Given the description of an element on the screen output the (x, y) to click on. 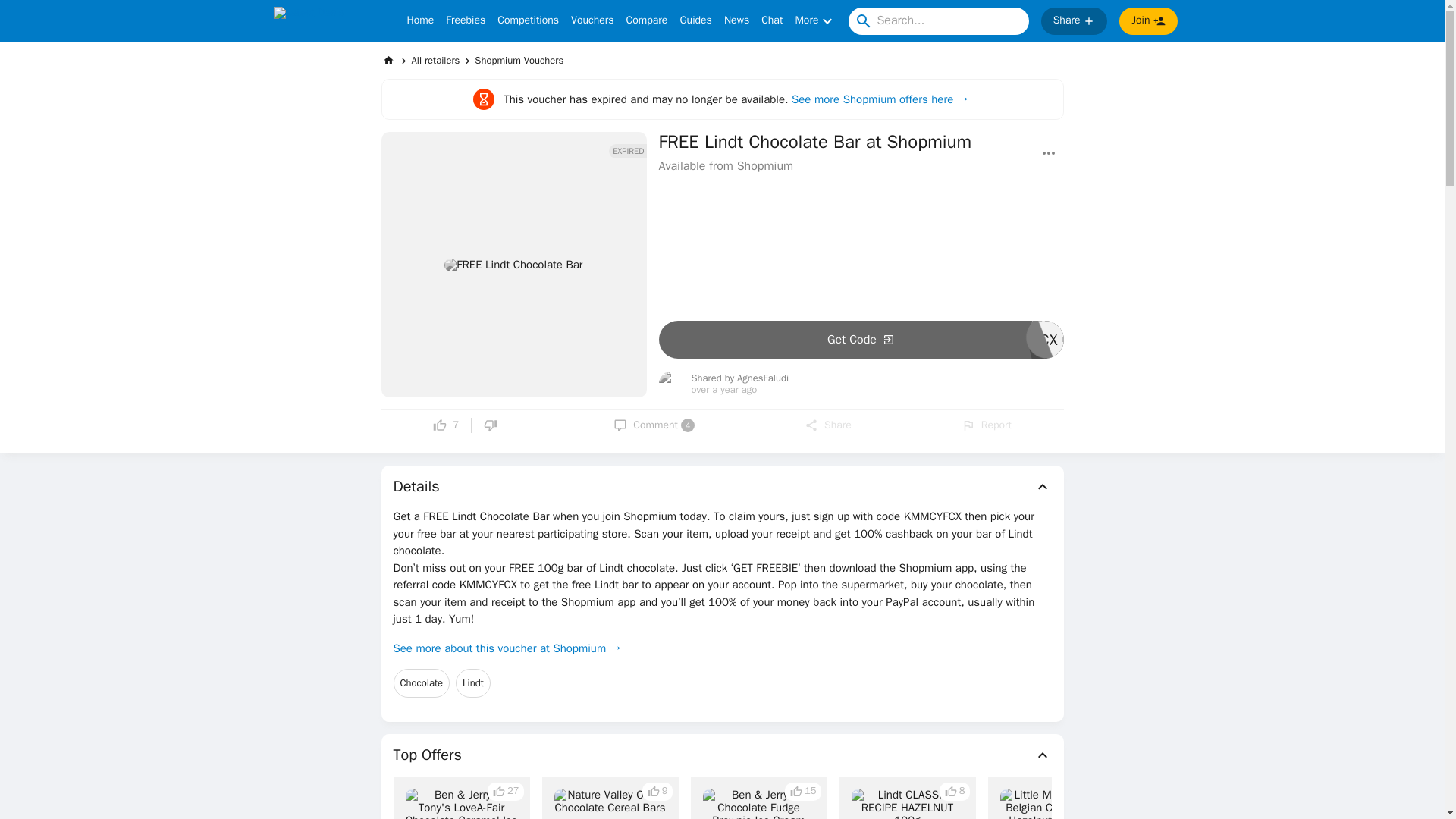
Home (419, 21)
Lindt (860, 339)
Report (472, 683)
Top Offers (985, 425)
All retailers (722, 755)
Shared by AgnesFaludi (435, 60)
Competitions (740, 378)
Share (528, 21)
News (1074, 21)
More (736, 21)
Details (653, 425)
Guides (814, 21)
Chocolate (722, 486)
